Given the description of an element on the screen output the (x, y) to click on. 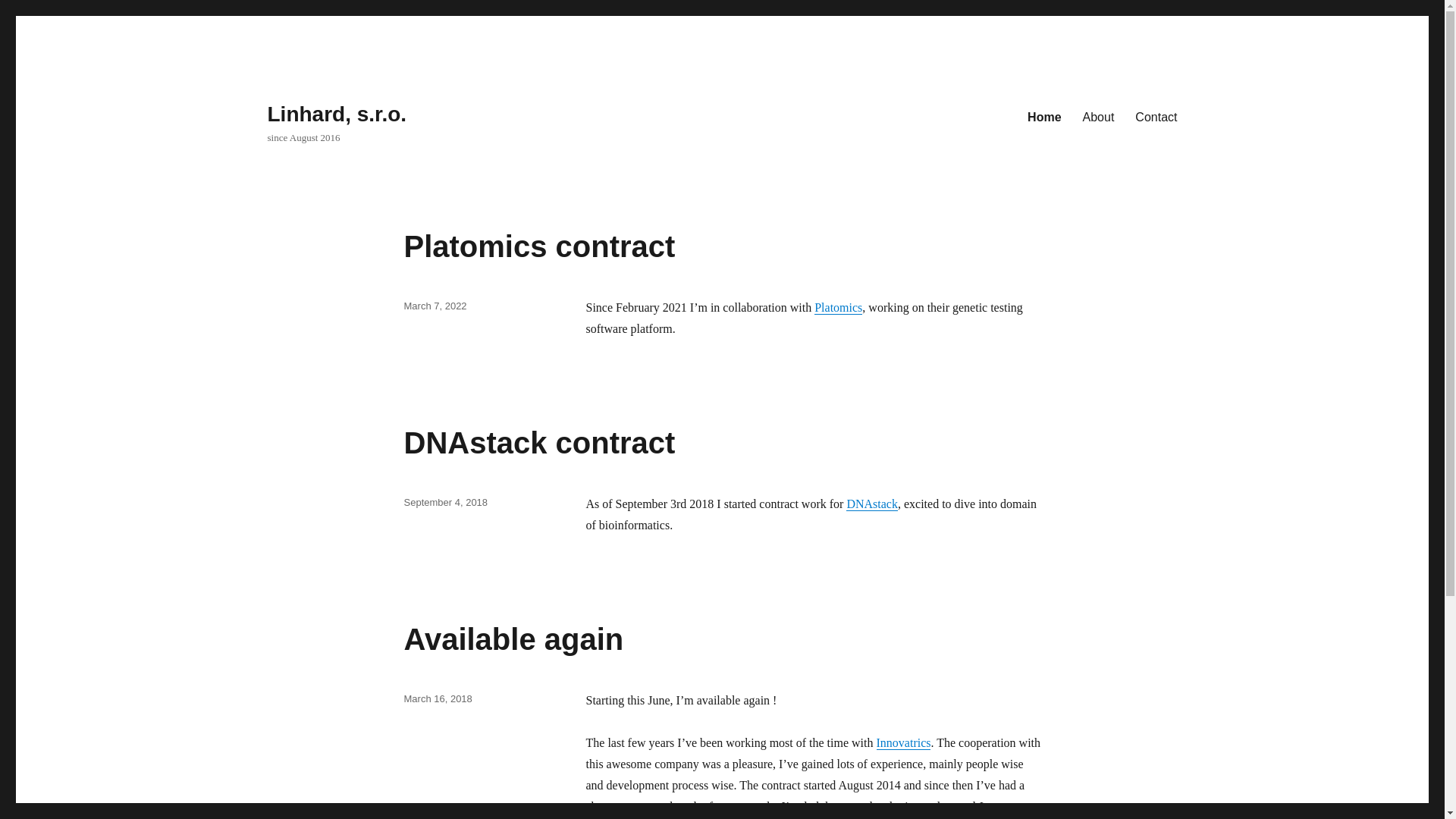
Innovatrics (903, 742)
Contact (1156, 116)
Platomics contract (539, 246)
Linhard, s.r.o. (336, 114)
Available again (513, 639)
September 4, 2018 (445, 501)
About (1098, 116)
DNAstack (871, 503)
Platomics (837, 307)
Home (1043, 116)
March 7, 2022 (434, 306)
DNAstack contract (539, 442)
March 16, 2018 (437, 698)
